Given the description of an element on the screen output the (x, y) to click on. 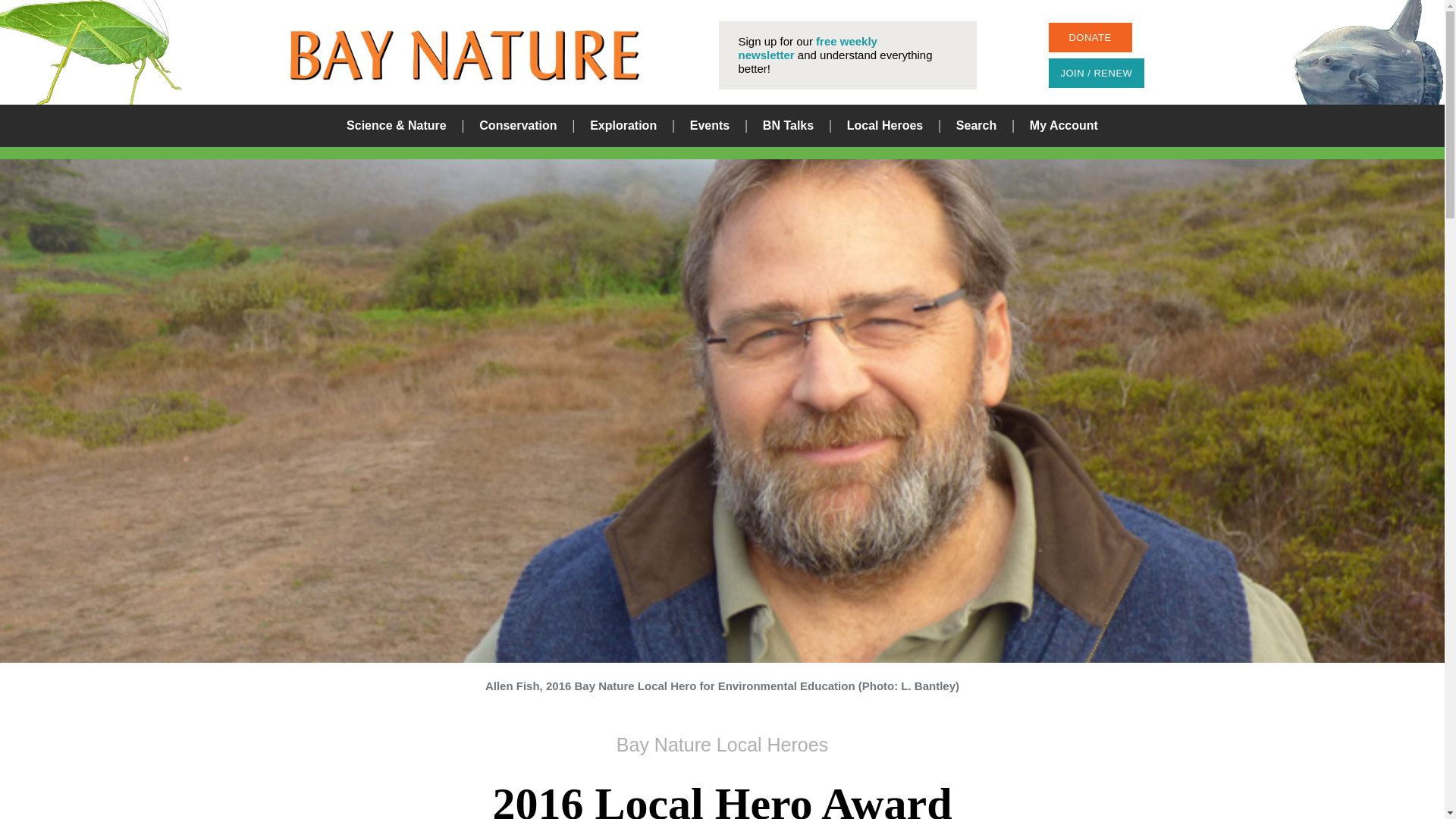
BN Talks (787, 125)
Bay Nature (464, 54)
Local Heroes (885, 125)
Exploration (622, 125)
Events (709, 125)
DONATE (1089, 37)
Search (879, 409)
free weekly newsletter (807, 48)
Conservation (517, 125)
Search (975, 125)
My Account (1063, 125)
